Given the description of an element on the screen output the (x, y) to click on. 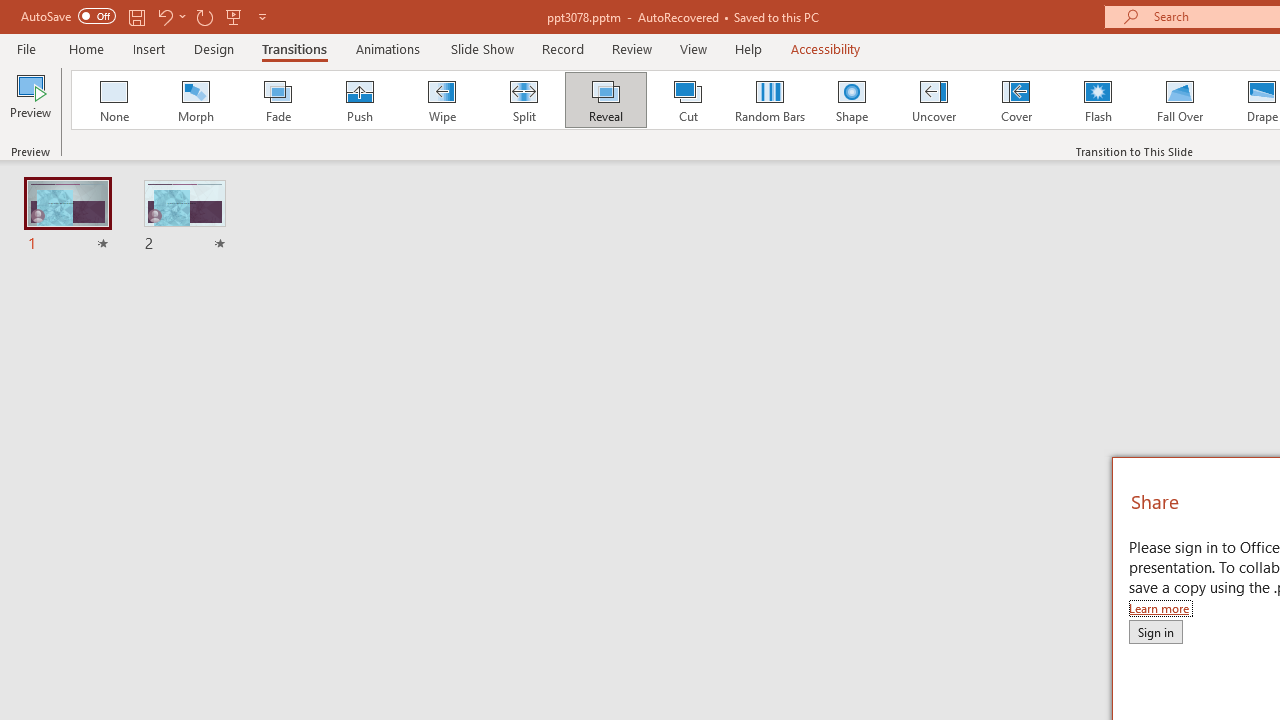
Uncover (934, 100)
Fall Over (1180, 100)
